Given the description of an element on the screen output the (x, y) to click on. 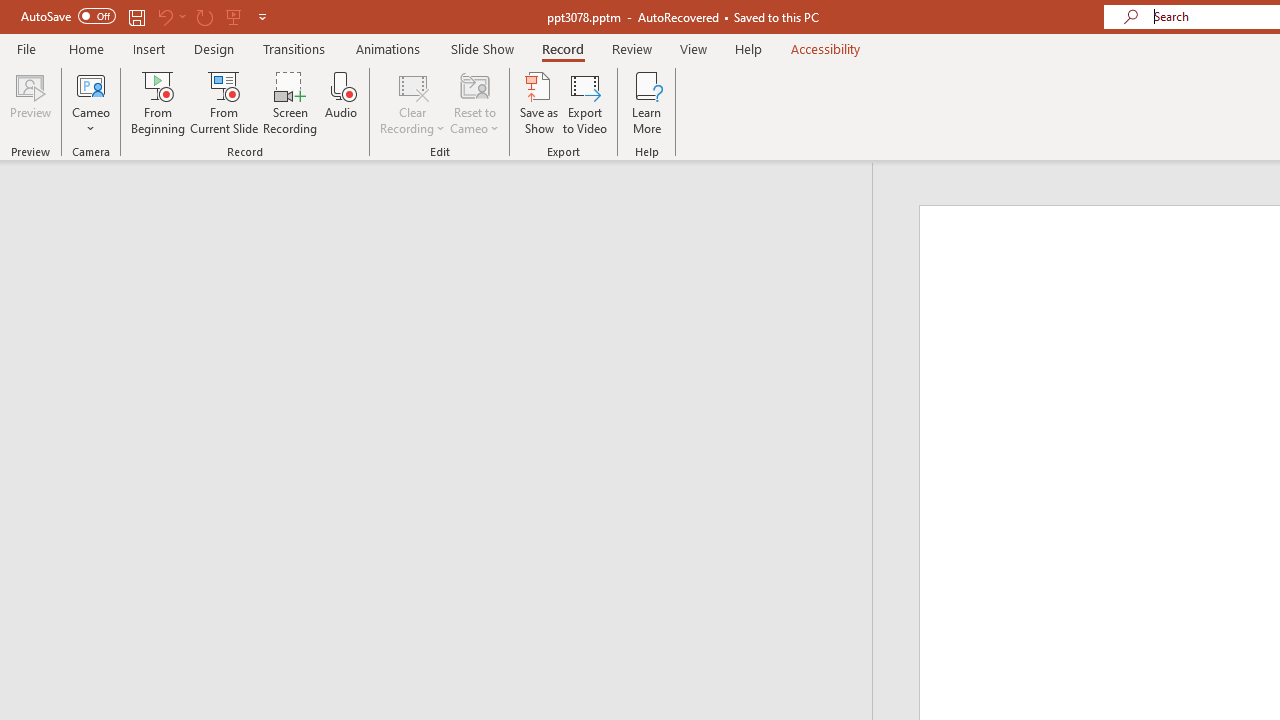
Audio (341, 102)
